Given the description of an element on the screen output the (x, y) to click on. 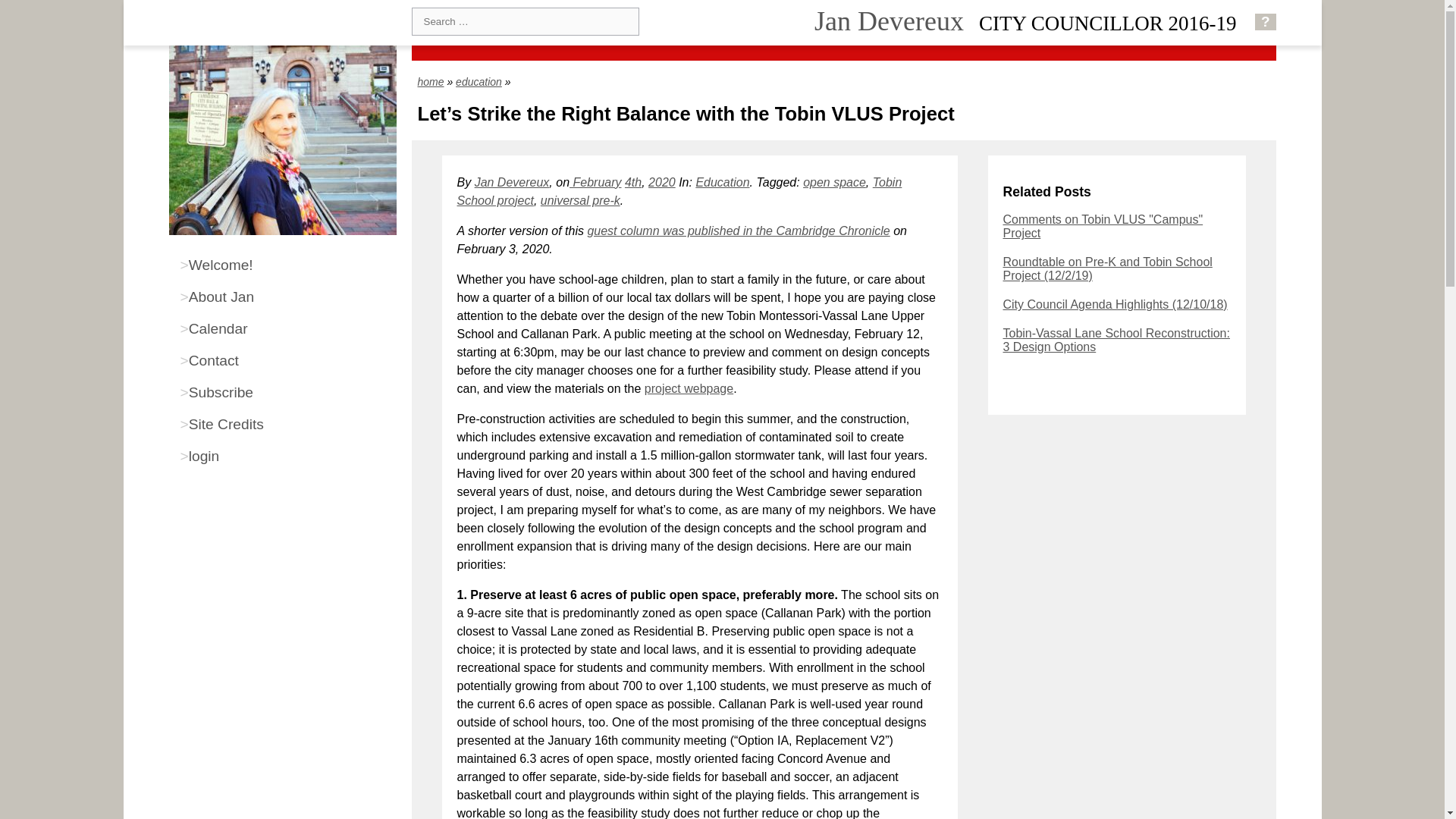
education (478, 81)
Education (722, 182)
project webpage (689, 388)
? (1265, 21)
About Jan (282, 296)
View all posts from 2020 (661, 182)
universal pre-k (580, 200)
Site Credits (282, 424)
Tobin School project (679, 191)
View all posts from February 2020 (595, 182)
